Given the description of an element on the screen output the (x, y) to click on. 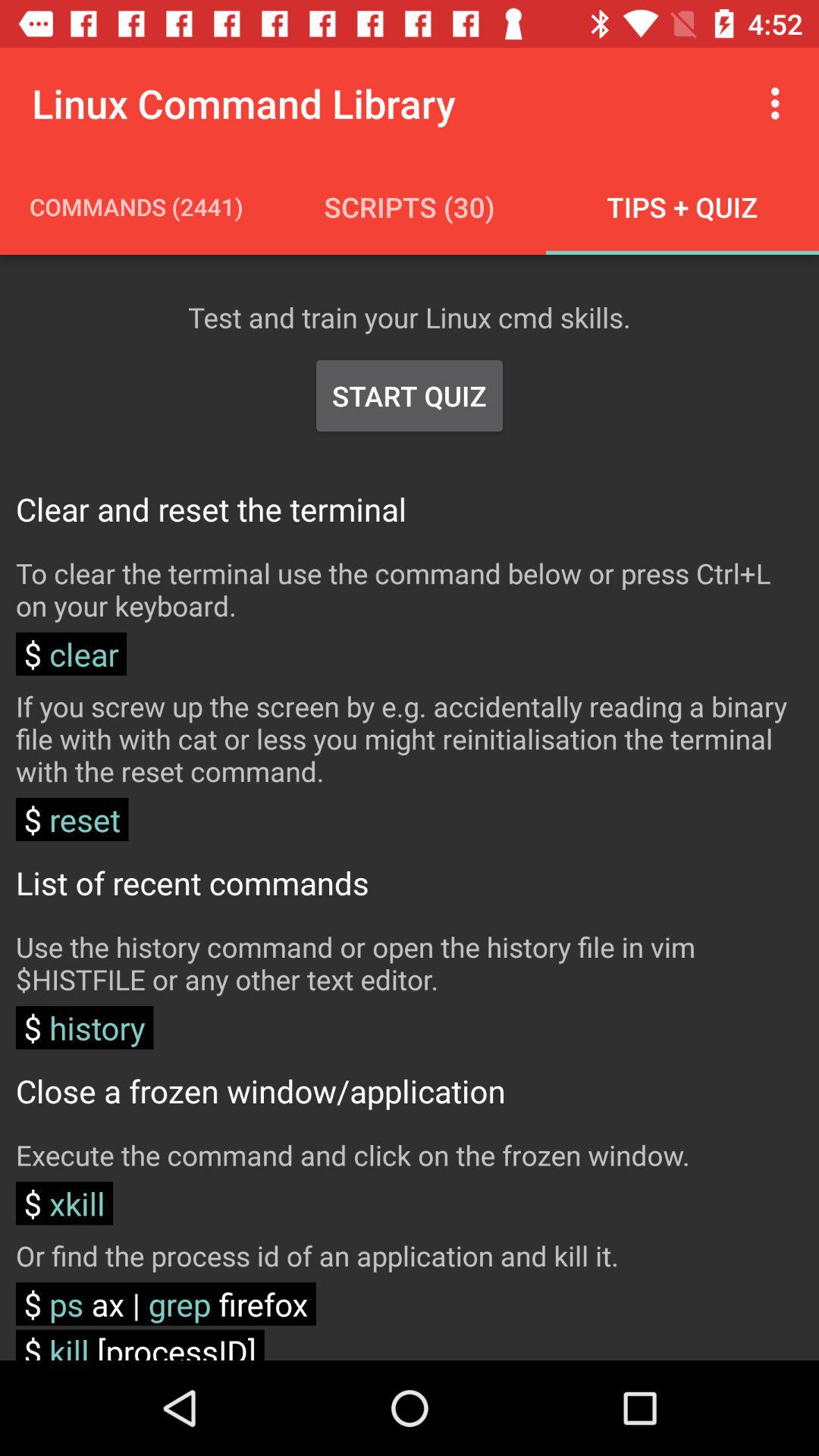
click on xkill (64, 1203)
click on the text clear (70, 653)
